Given the description of an element on the screen output the (x, y) to click on. 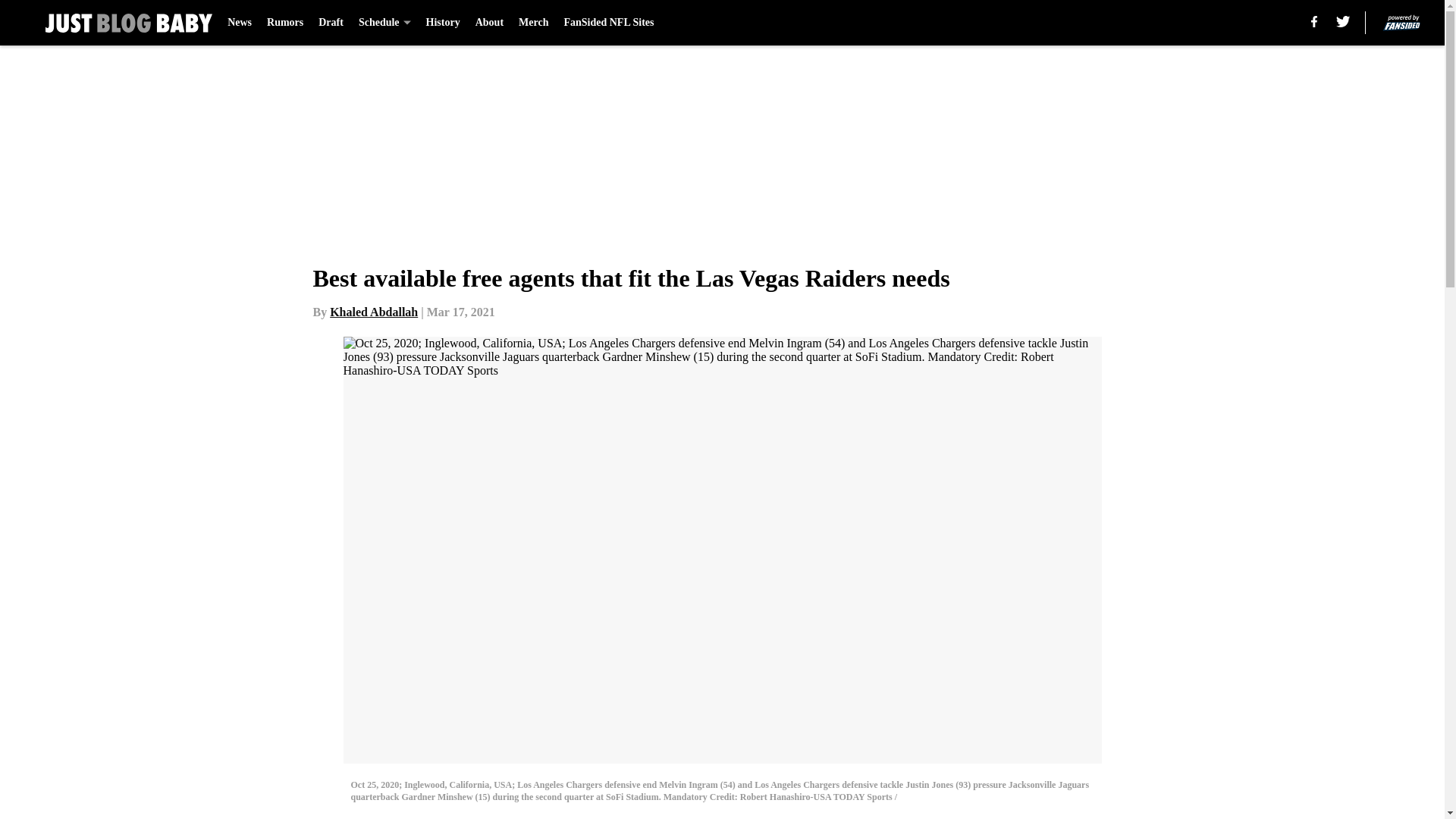
About (489, 22)
News (239, 22)
History (443, 22)
Merch (533, 22)
FanSided NFL Sites (608, 22)
Draft (330, 22)
Khaled Abdallah (373, 311)
Rumors (284, 22)
